Given the description of an element on the screen output the (x, y) to click on. 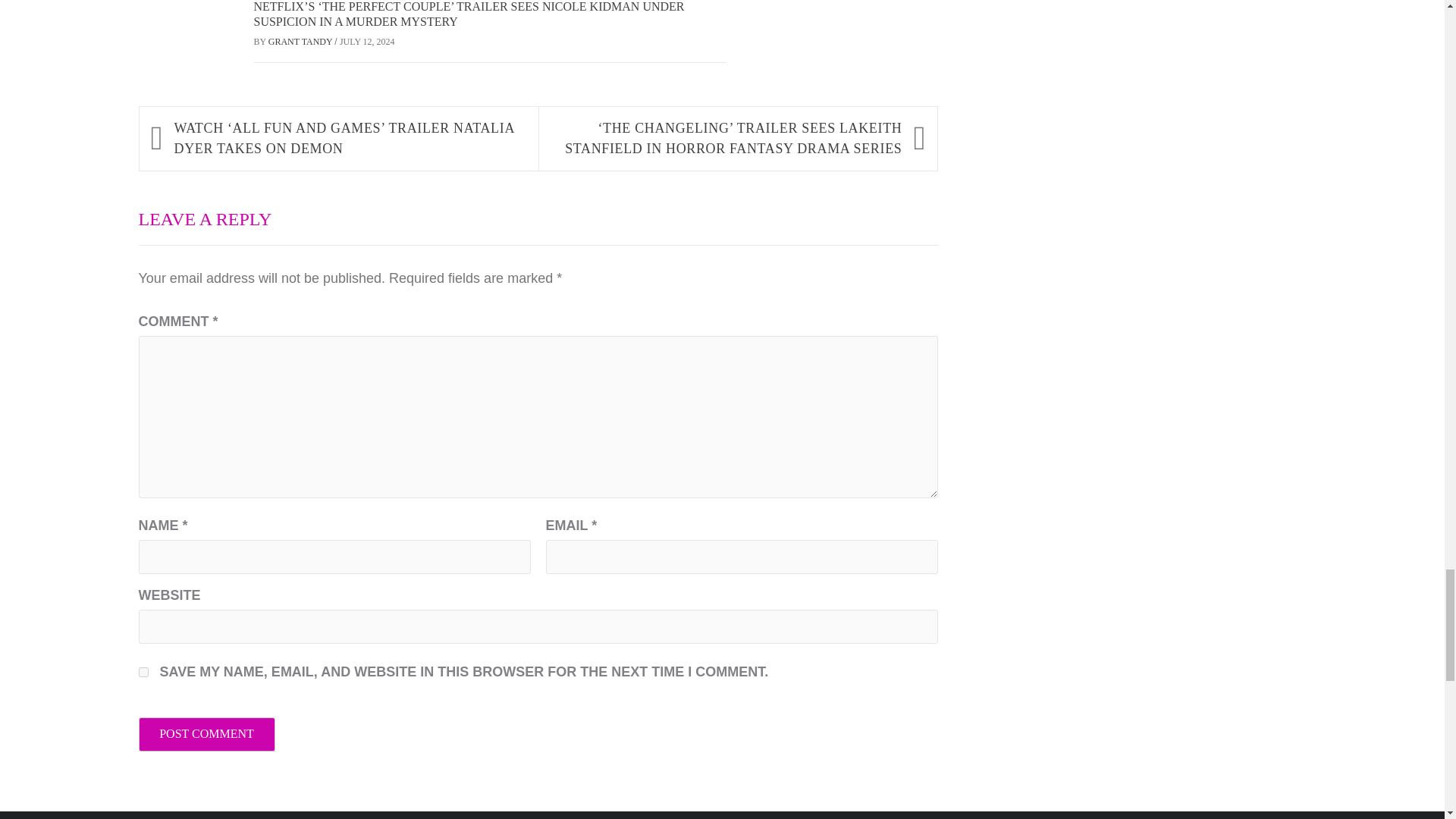
Post Comment (206, 734)
Post Comment (206, 734)
yes (143, 672)
GRANT TANDY (300, 41)
